Given the description of an element on the screen output the (x, y) to click on. 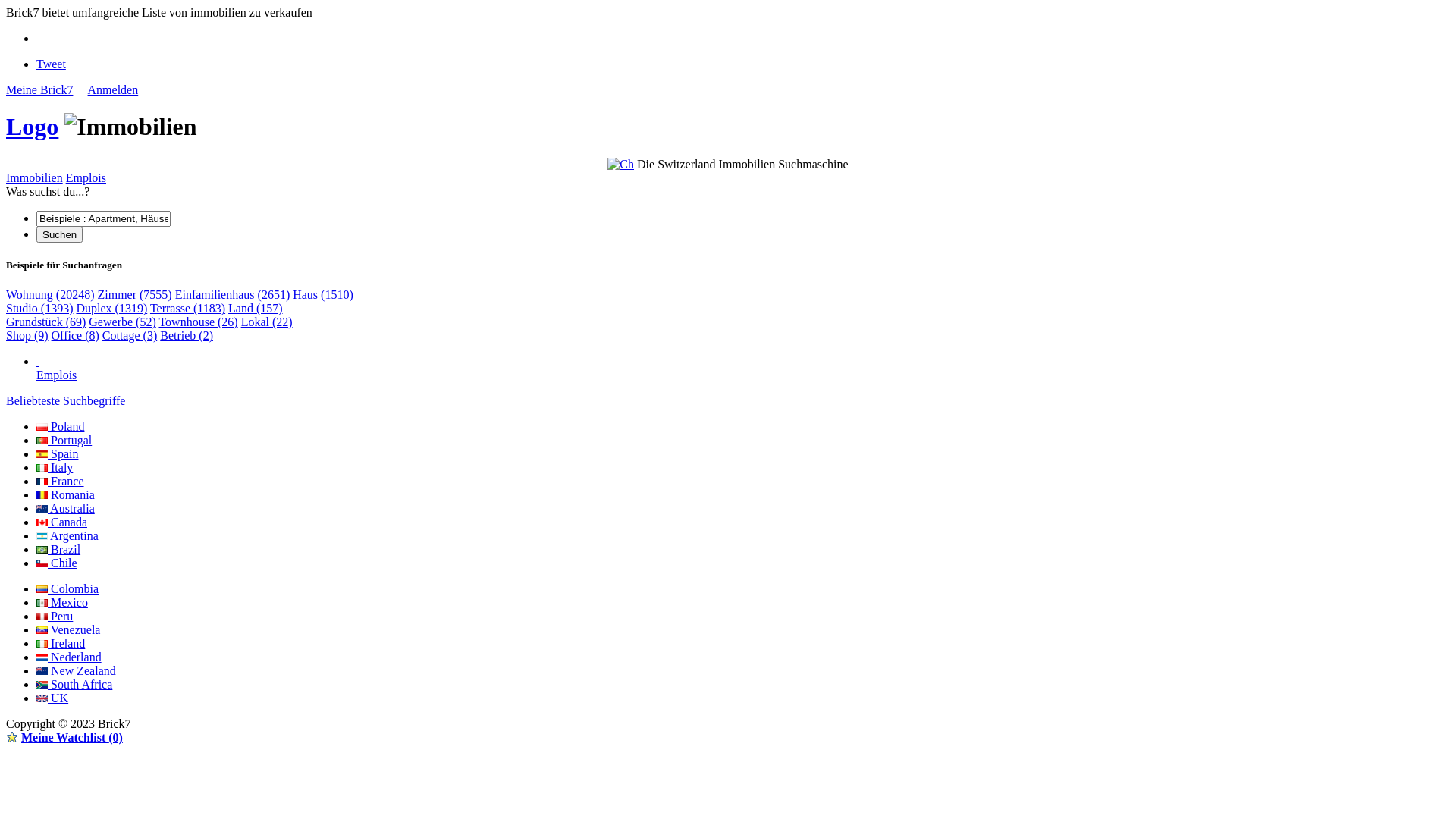
Wohnung (20248) Element type: text (50, 294)
 Italy Element type: text (54, 467)
Duplex (1319) Element type: text (111, 307)
 New Zealand Element type: text (76, 670)
Zimmer (7555) Element type: text (134, 294)
Meine Watchlist (0) Element type: text (71, 737)
Meine Brick7 Element type: text (39, 89)
 UK Element type: text (52, 697)
Gewerbe (52) Element type: text (121, 321)
Terrasse (1183) Element type: text (187, 307)
 France Element type: text (60, 480)
Shop (9) Element type: text (27, 335)
Land (157) Element type: text (255, 307)
 Colombia Element type: text (67, 588)
Tweet Element type: text (50, 63)
Suchen Element type: text (59, 234)
 Nederland Element type: text (68, 656)
 Peru Element type: text (54, 615)
Townhouse (26) Element type: text (197, 321)
 Argentina Element type: text (67, 535)
 South Africa Element type: text (74, 683)
Emplois Element type: text (85, 177)
 Romania Element type: text (65, 494)
Immobilien Element type: text (34, 177)
 Australia Element type: text (65, 508)
Haus (1510) Element type: text (322, 294)
Betrieb (2) Element type: text (186, 335)
Cottage (3) Element type: text (129, 335)
 Portugal Element type: text (63, 439)
  Emplois Element type: text (742, 367)
Logo Element type: text (32, 126)
 Ireland Element type: text (60, 643)
 Canada Element type: text (61, 521)
 Chile Element type: text (56, 562)
Beliebteste Suchbegriffe Element type: text (65, 400)
 Venezuela Element type: text (68, 629)
 Spain Element type: text (57, 453)
 Brazil Element type: text (58, 548)
 Mexico Element type: text (61, 602)
Lokal (22) Element type: text (266, 321)
Einfamilienhaus (2651) Element type: text (232, 294)
Office (8) Element type: text (75, 335)
Studio (1393) Element type: text (39, 307)
Anmelden Element type: text (112, 89)
 Poland Element type: text (60, 426)
